Given the description of an element on the screen output the (x, y) to click on. 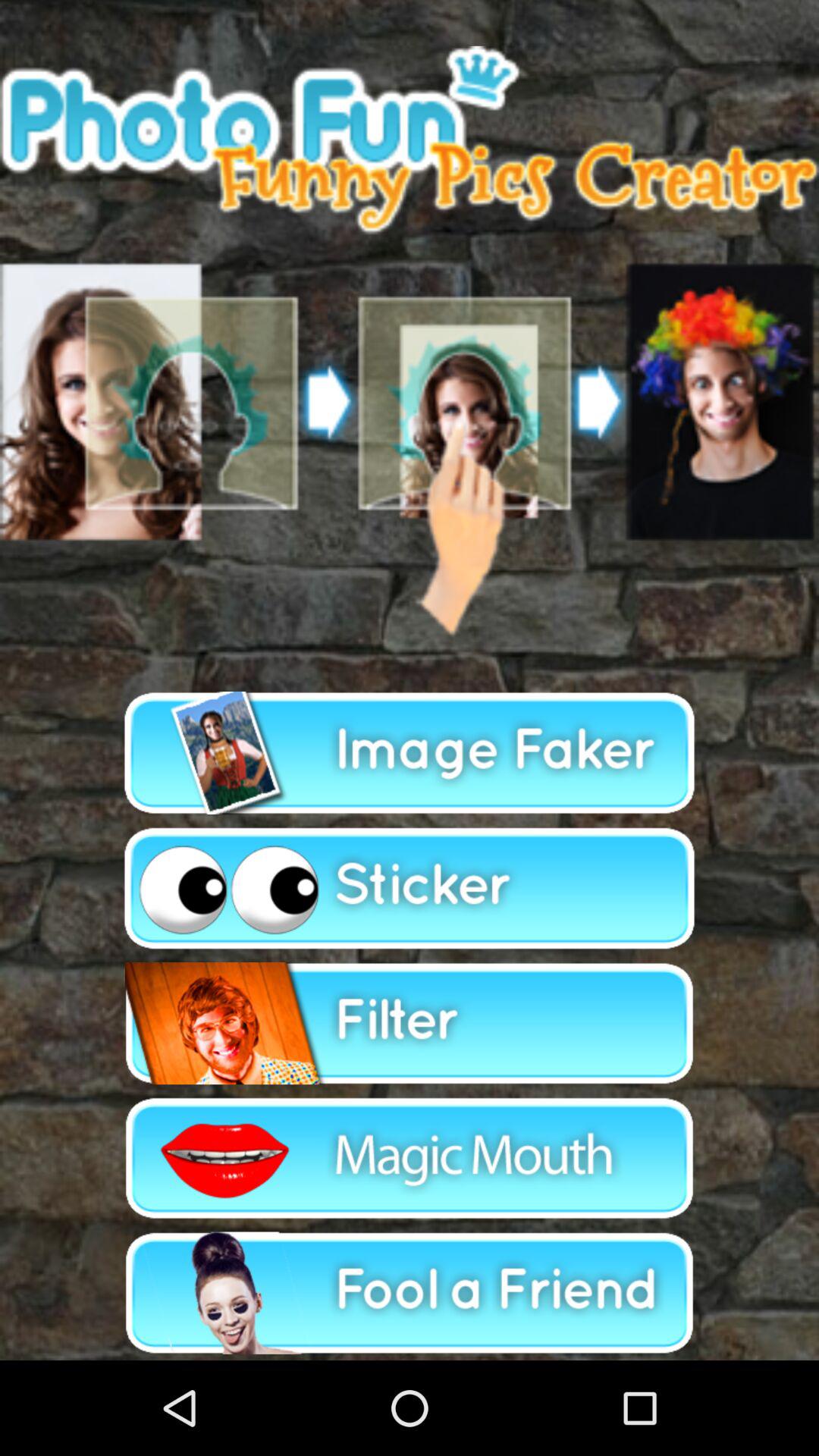
sticker page (409, 887)
